Given the description of an element on the screen output the (x, y) to click on. 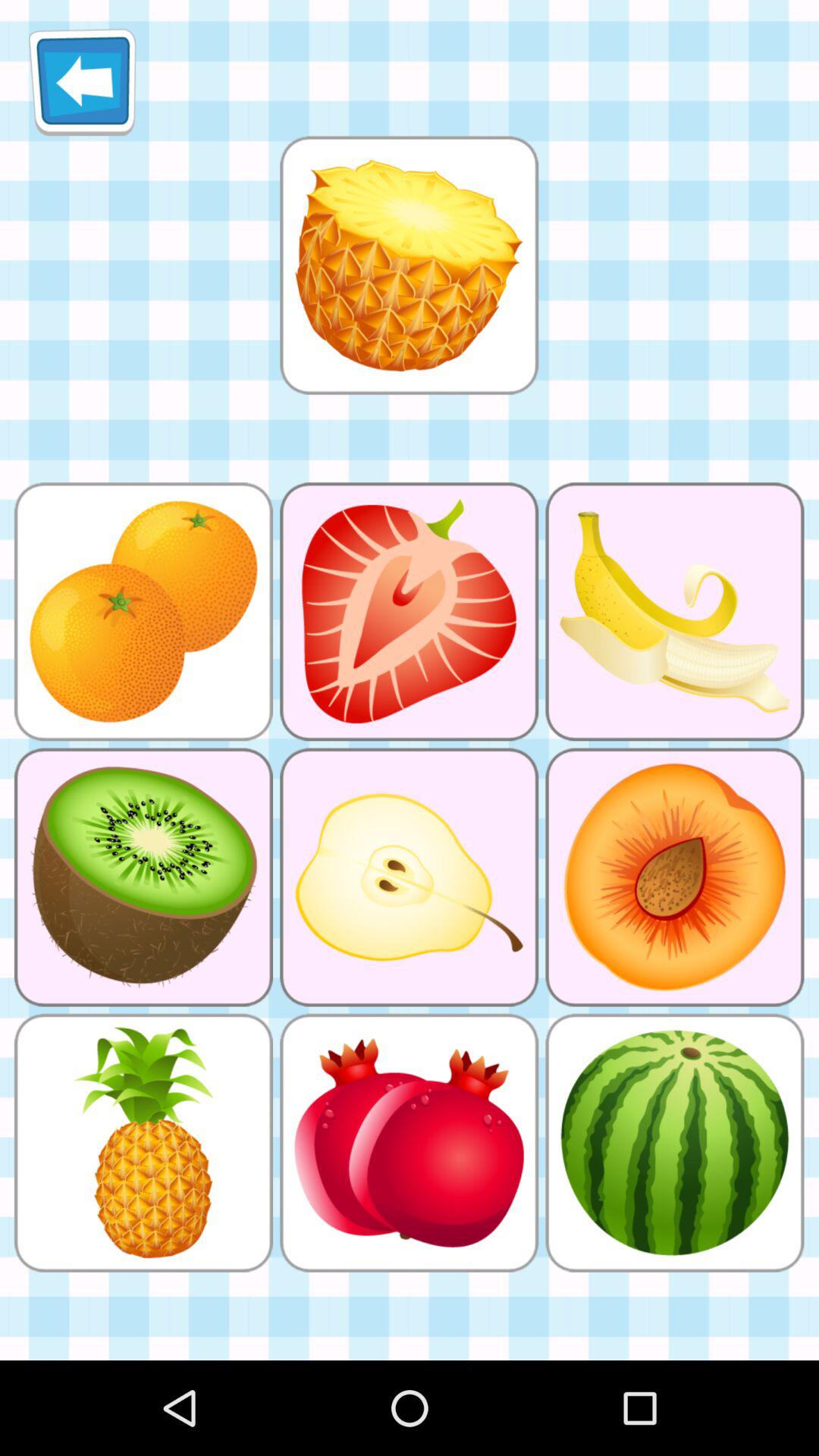
this image was fruit (409, 265)
